Given the description of an element on the screen output the (x, y) to click on. 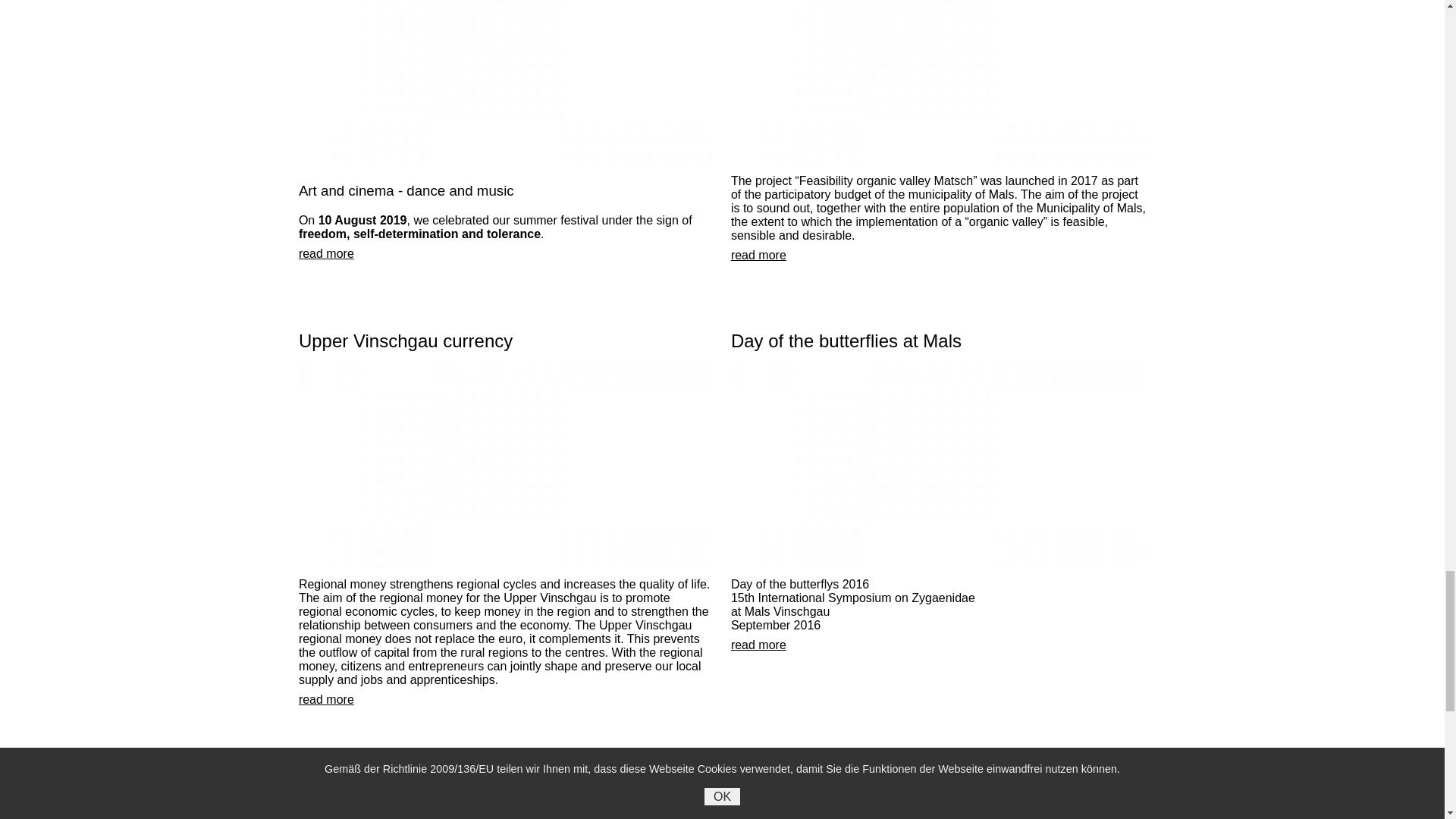
Buch Malser Weg (937, 812)
Bild (937, 464)
Sommerfest 2019 (505, 83)
Bild (505, 464)
